Given the description of an element on the screen output the (x, y) to click on. 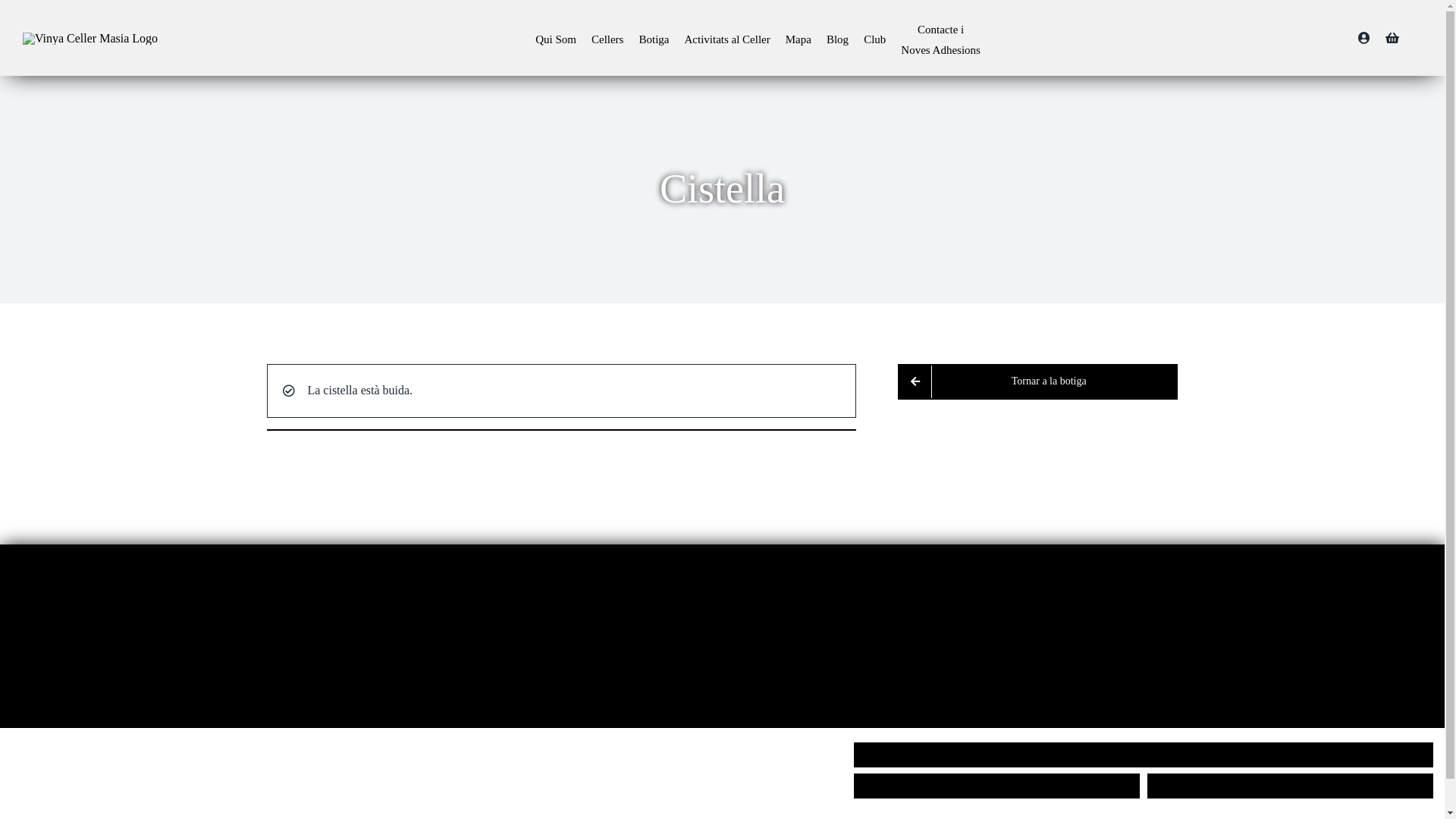
Contacte i
Noves Adhesions Element type: text (940, 39)
Club Element type: text (874, 39)
Activitats al Celler Element type: text (726, 39)
Tornar a la botiga Element type: text (1036, 381)
Mapa Element type: text (798, 39)
Botiga Element type: text (653, 39)
Blog Element type: text (837, 39)
Qui Som Element type: text (555, 39)
Cellers Element type: text (607, 39)
